Given the description of an element on the screen output the (x, y) to click on. 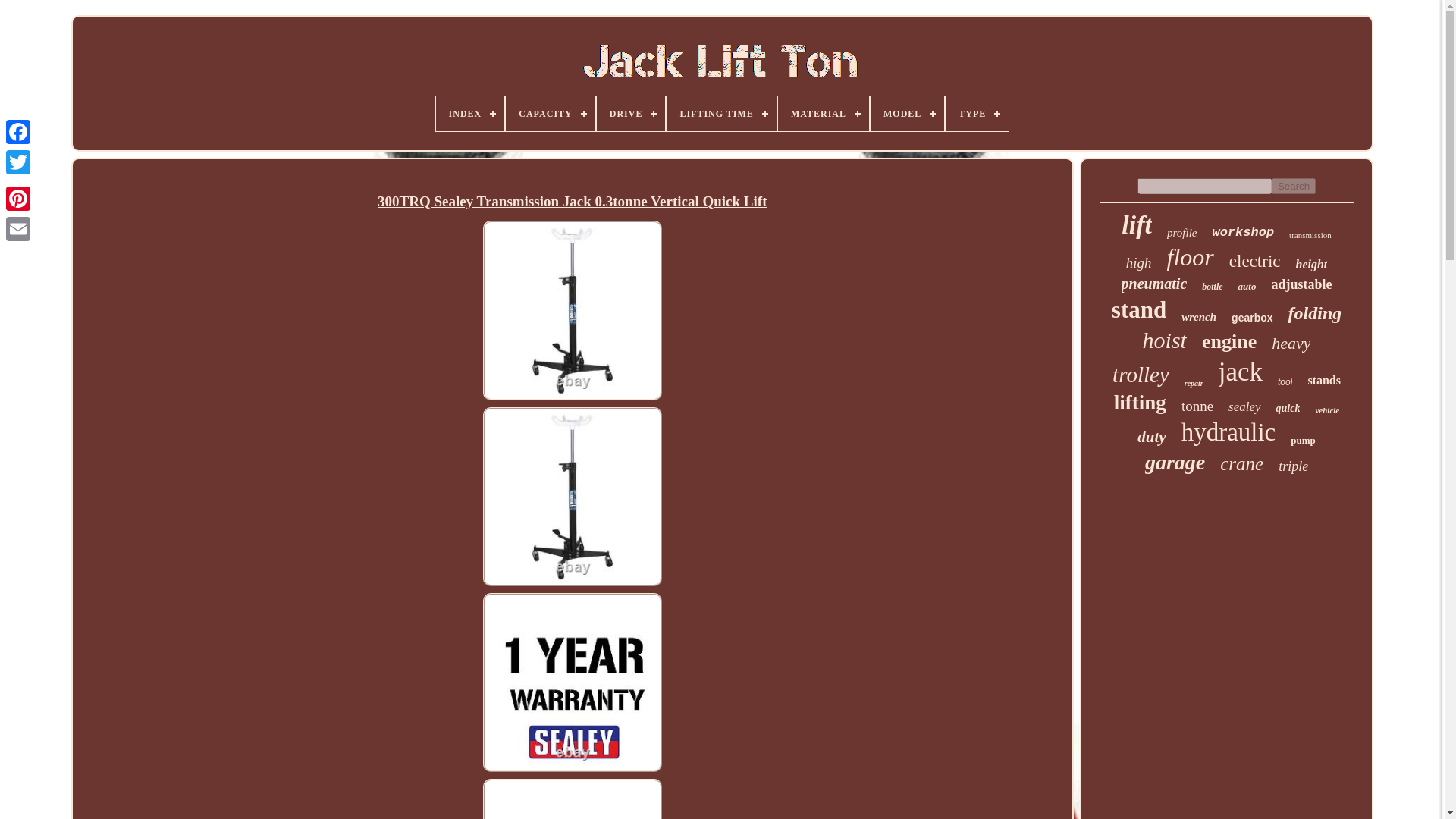
300TRQ Sealey Transmission Jack 0.3tonne Vertical Quick Lift (572, 798)
300trq Sealey Transmission Jack 0.3tonne Vertical Quick Lift (571, 798)
INDEX (470, 113)
300trq Sealey Transmission Jack 0.3tonne Vertical Quick Lift (571, 684)
300TRQ Sealey Transmission Jack 0.3tonne Vertical Quick Lift (572, 496)
300trq Sealey Transmission Jack 0.3tonne Vertical Quick Lift (571, 311)
300trq Sealey Transmission Jack 0.3tonne Vertical Quick Lift (571, 498)
Search (1293, 186)
CAPACITY (549, 113)
300TRQ Sealey Transmission Jack 0.3tonne Vertical Quick Lift (572, 309)
300trq Sealey Transmission Jack 0.3tonne Vertical Quick Lift (572, 201)
DRIVE (630, 113)
300TRQ Sealey Transmission Jack 0.3tonne Vertical Quick Lift (572, 682)
